Given the description of an element on the screen output the (x, y) to click on. 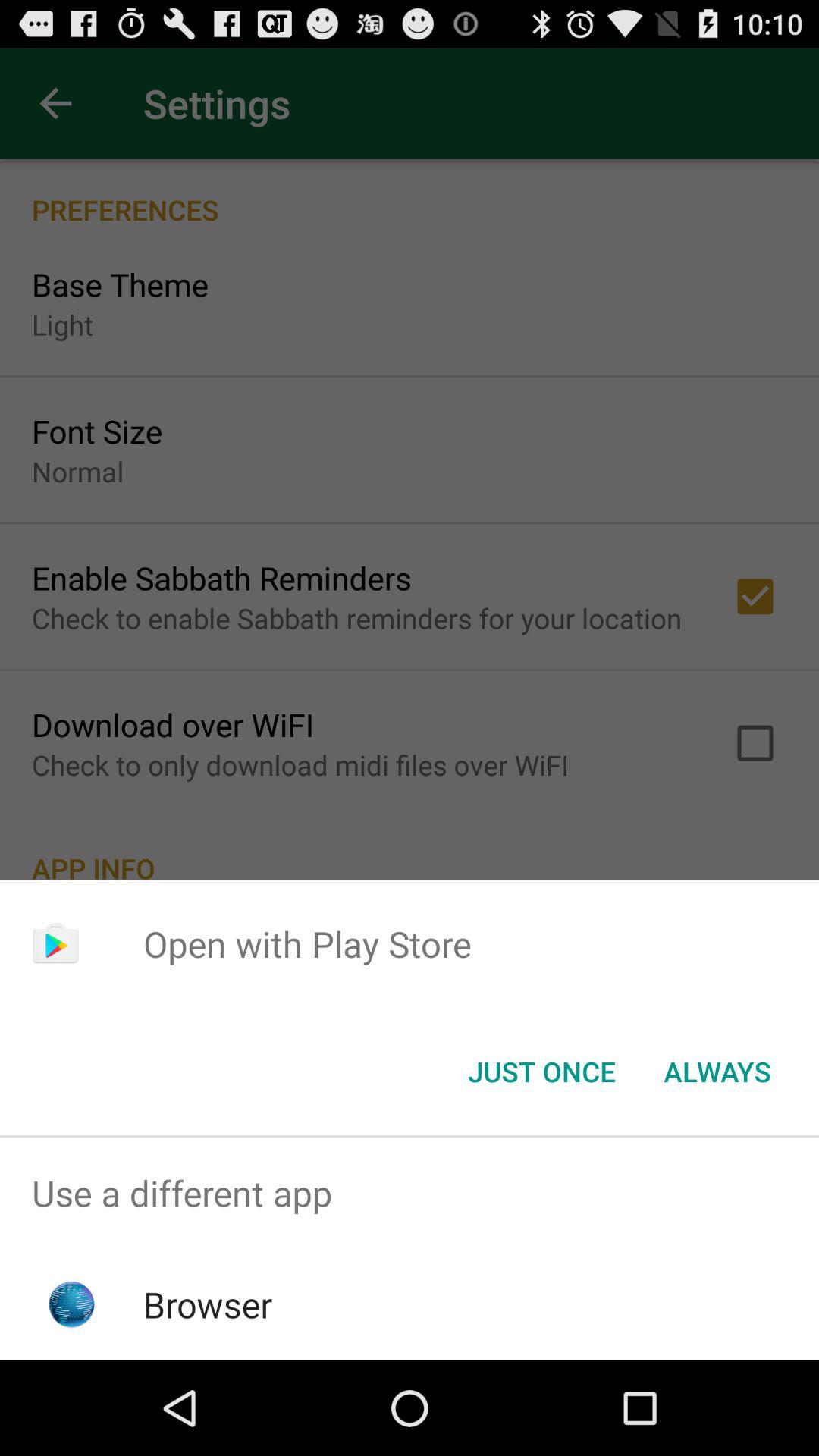
press the icon below the open with play item (541, 1071)
